Given the description of an element on the screen output the (x, y) to click on. 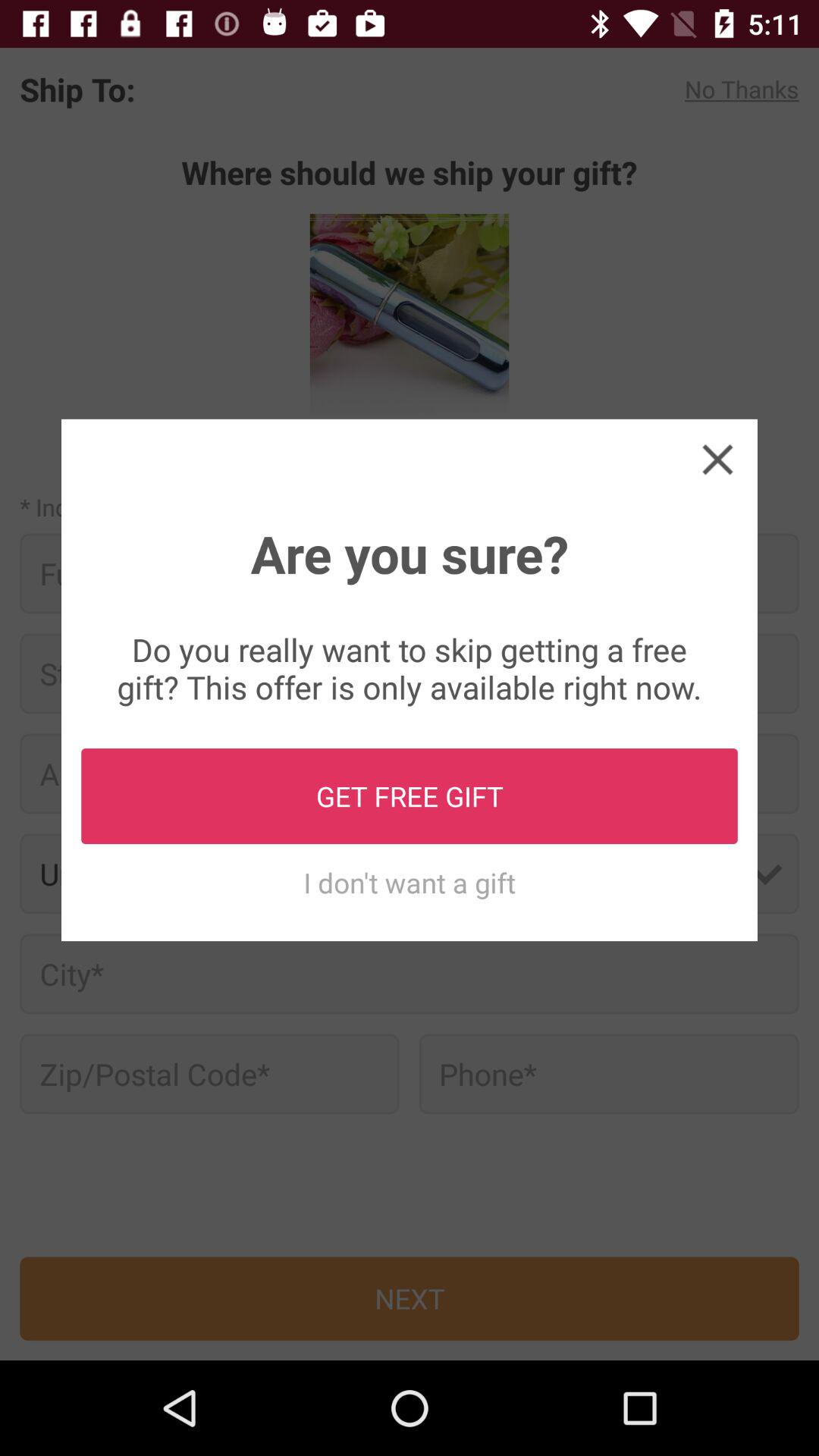
close dialog box (717, 458)
